Given the description of an element on the screen output the (x, y) to click on. 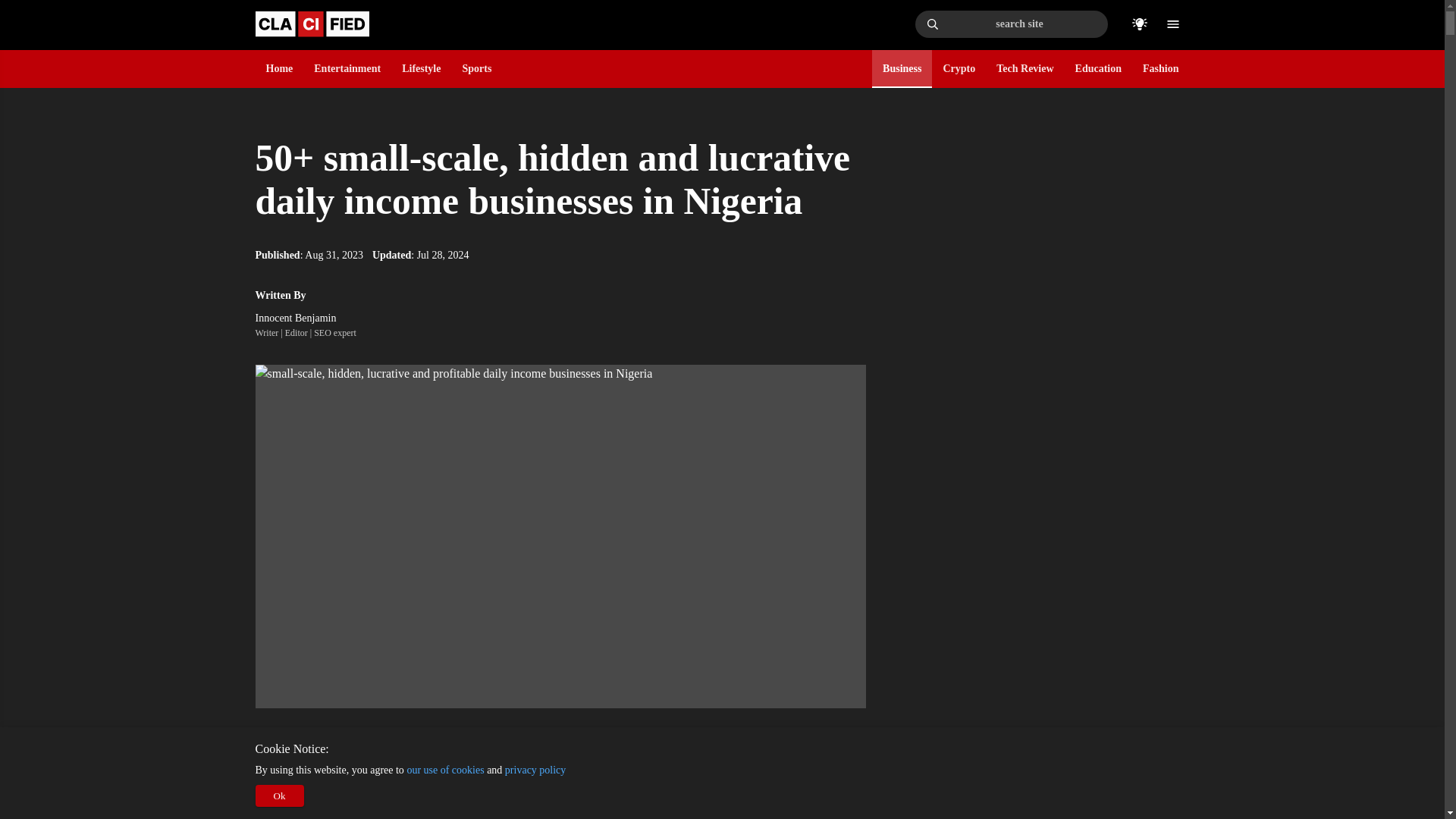
Crypto (958, 68)
Toggle theme (1139, 23)
Tech Review (1023, 68)
Entertainment (347, 68)
Fashion (1159, 68)
Home (278, 68)
Sports (476, 68)
Business (901, 68)
Education (1098, 68)
Lifestyle (421, 68)
Toggle menu (1172, 23)
